Given the description of an element on the screen output the (x, y) to click on. 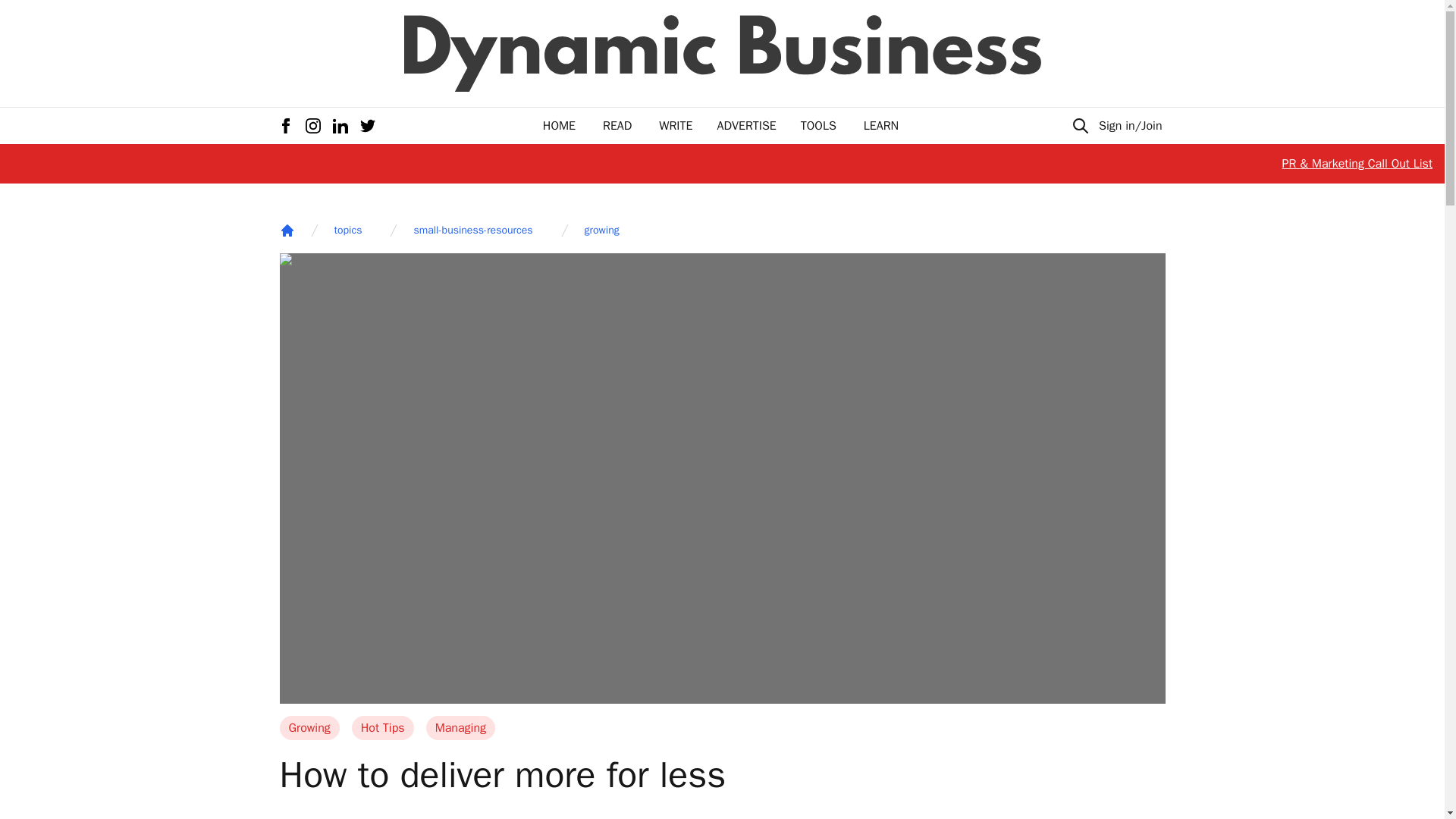
growing (602, 230)
Home (286, 230)
TOOLS (817, 126)
topics (347, 230)
LEARN (880, 126)
small-business-resources (472, 230)
HOME (559, 126)
WRITE (676, 126)
Managing (460, 727)
READ (616, 126)
Growing (309, 727)
Hot Tips (382, 727)
ADVERTISE (746, 126)
